Given the description of an element on the screen output the (x, y) to click on. 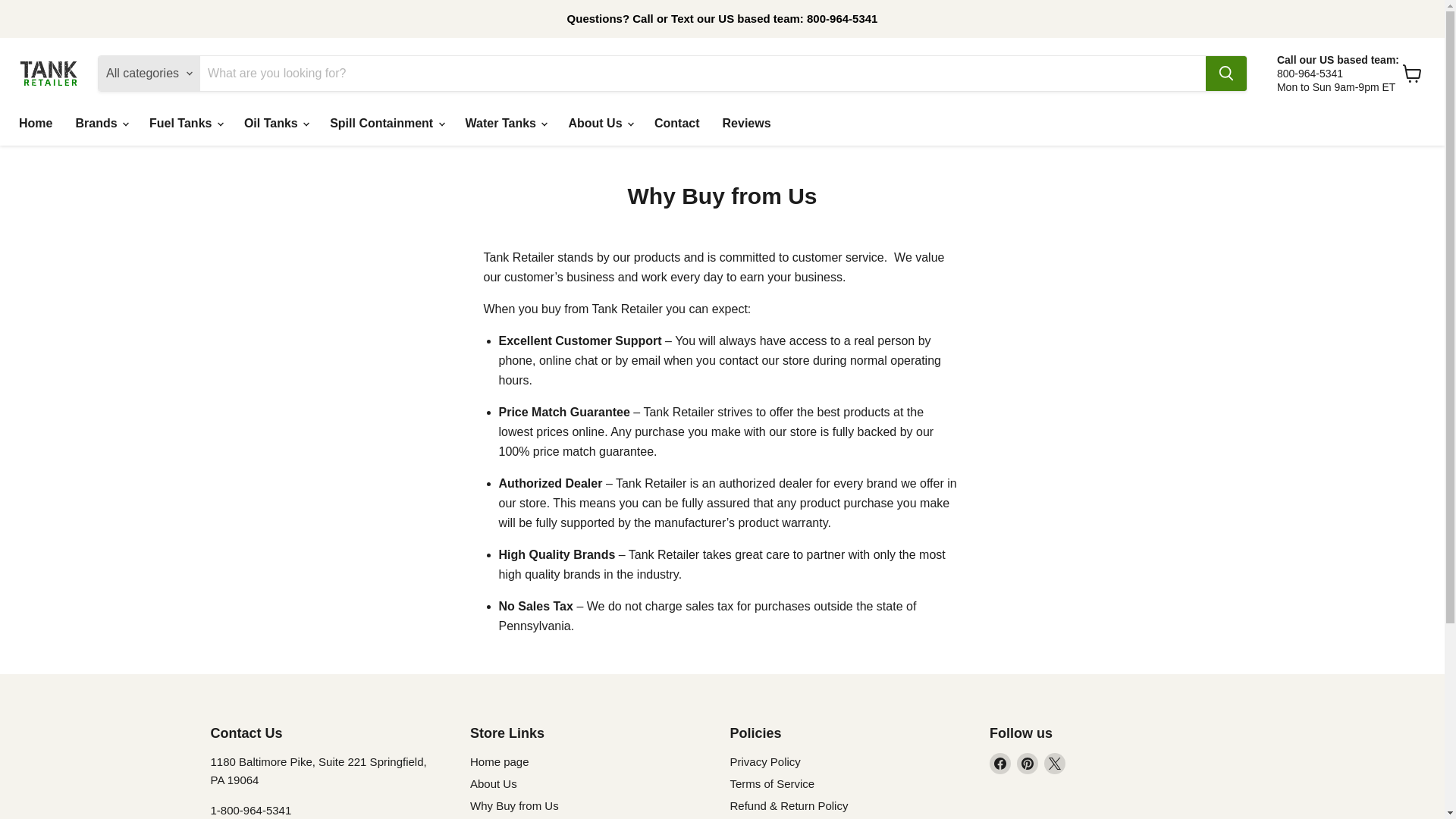
X (1054, 762)
Facebook (1000, 762)
Home (35, 123)
View cart (1411, 73)
Pinterest (1027, 762)
